Given the description of an element on the screen output the (x, y) to click on. 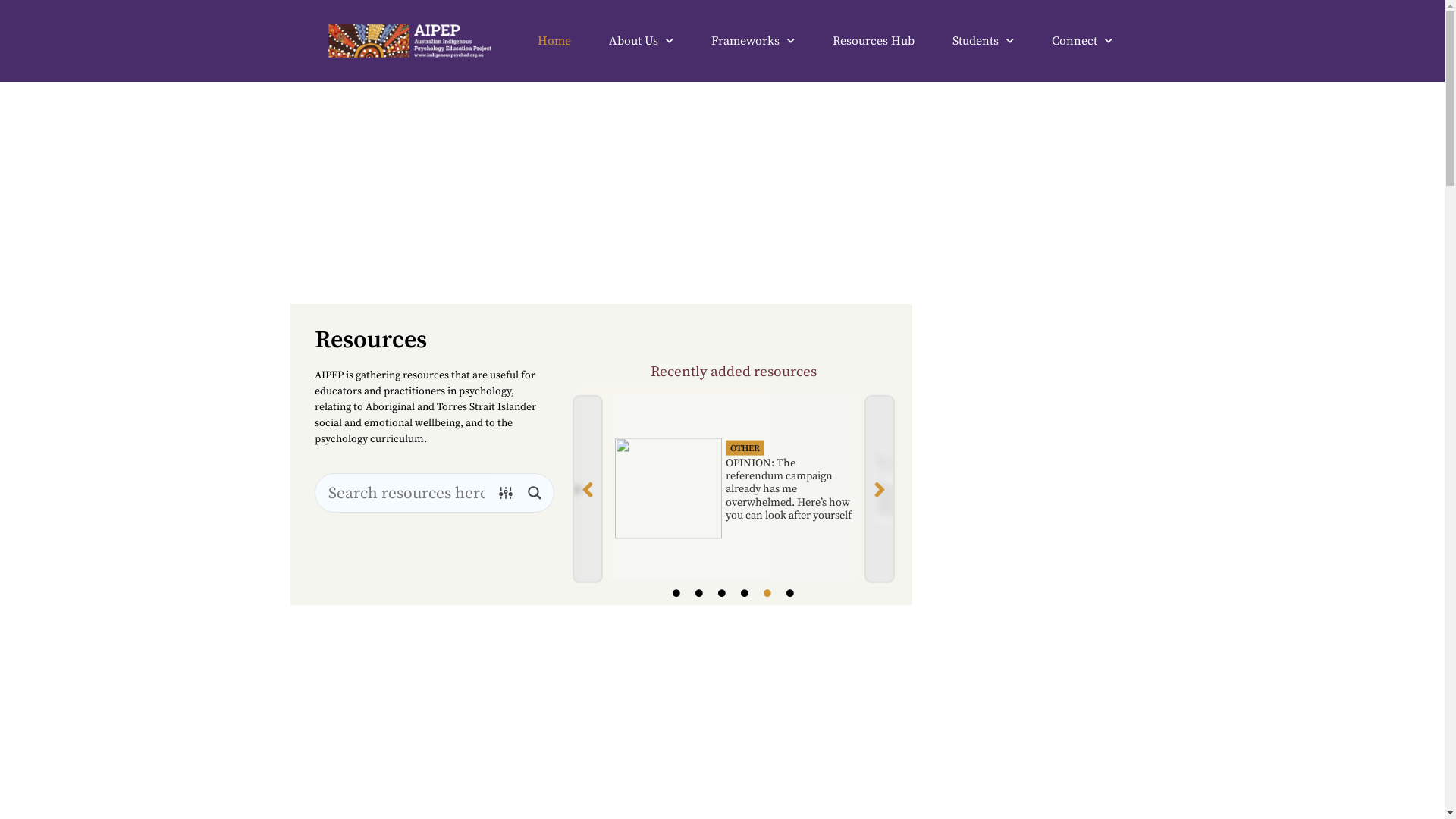
Resources Hub Element type: text (873, 40)
Minimising harm in conversations about the referendum Element type: text (522, 489)
OTHER Element type: text (744, 447)
Connect Element type: text (1081, 40)
About Us Element type: text (640, 40)
Students Element type: text (982, 40)
Frameworks Element type: text (752, 40)
Home Element type: text (554, 40)
